Given the description of an element on the screen output the (x, y) to click on. 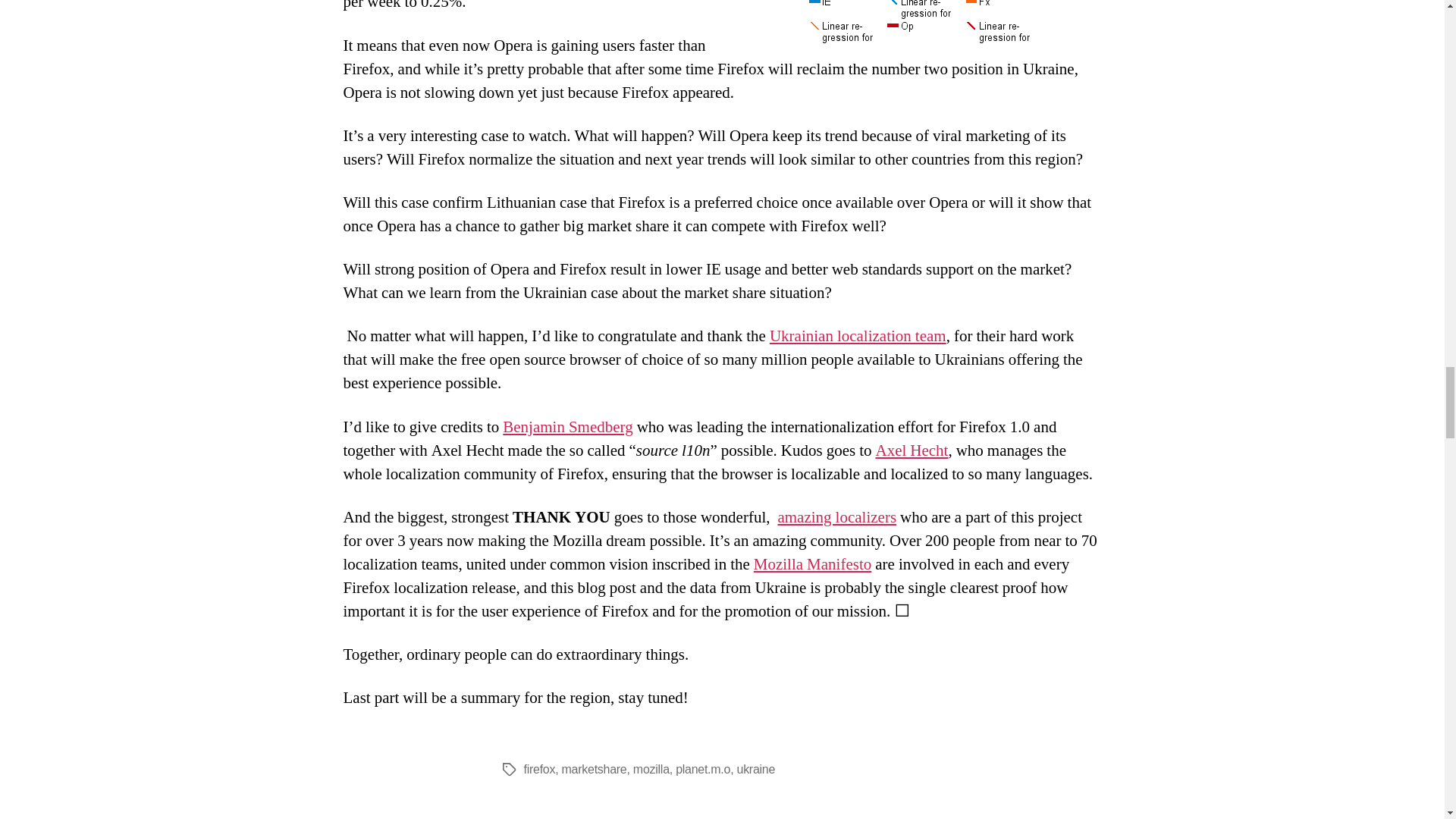
amazing localizers (836, 516)
Benjamin Smedberg (566, 426)
Mozilla Manifesto (812, 564)
firefox (538, 768)
Axel Hecht (911, 450)
marketshare (594, 768)
mozilla (651, 768)
Ukrainian localization team (858, 335)
